Given the description of an element on the screen output the (x, y) to click on. 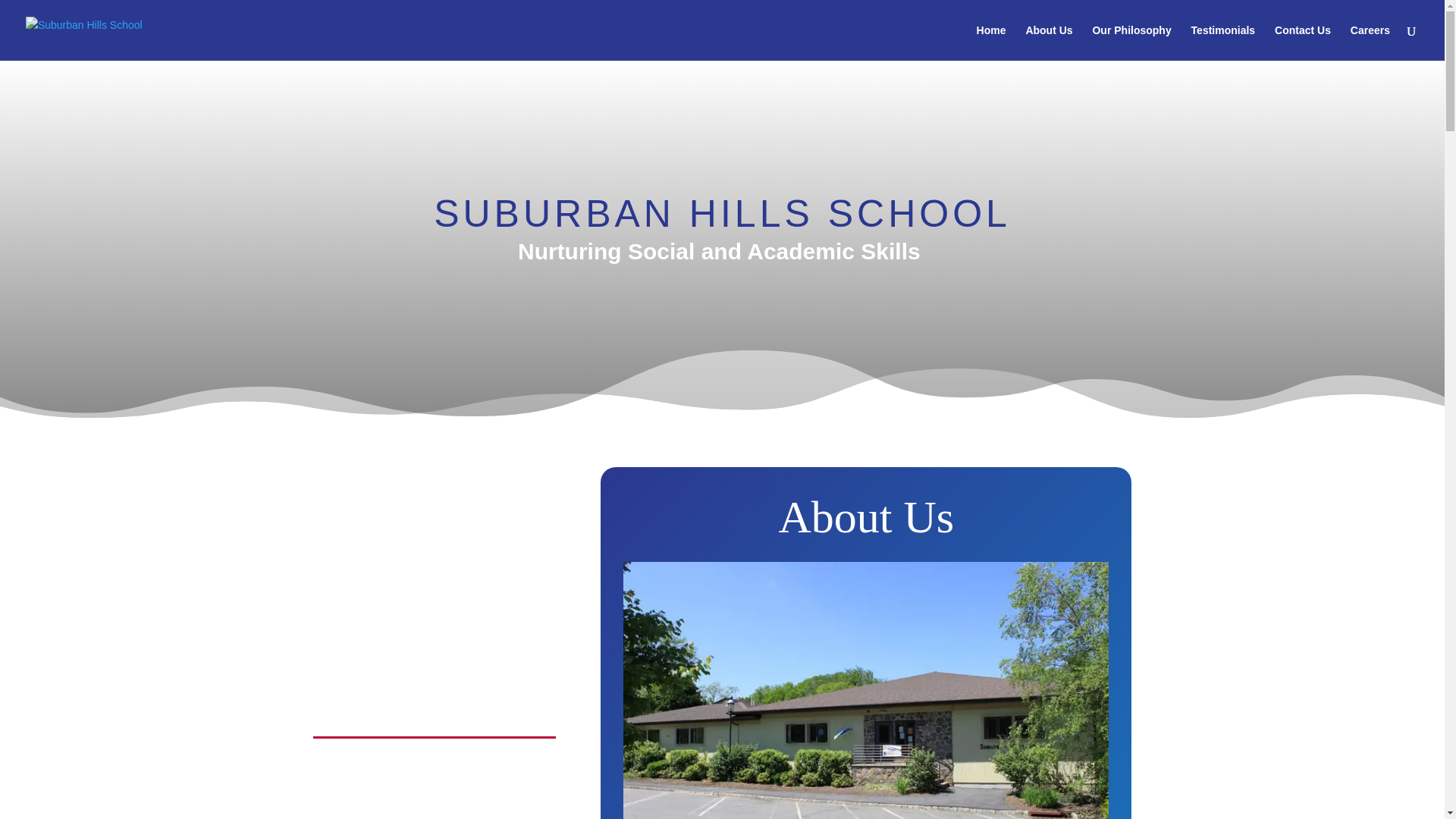
Our Philosophy (1131, 42)
About Us (1048, 42)
Testimonials (1223, 42)
Careers (1370, 42)
Contact Us (1302, 42)
Home (991, 42)
